Given the description of an element on the screen output the (x, y) to click on. 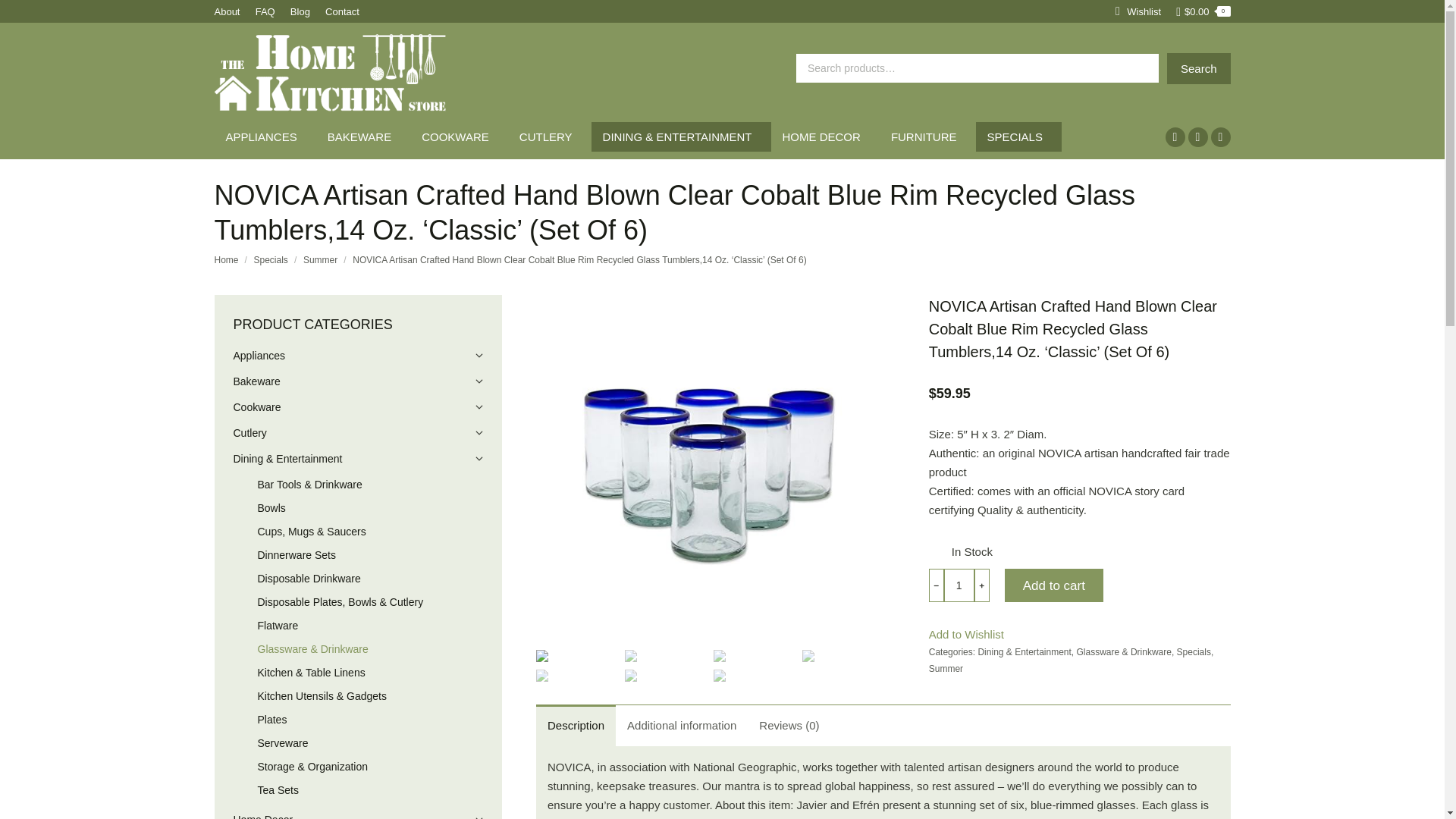
About (227, 11)
Facebook page opens in new window (1174, 137)
Home (226, 259)
Search (1198, 68)
Search (1198, 68)
FAQ (265, 11)
Pinterest page opens in new window (1219, 137)
APPLIANCES (264, 136)
X page opens in new window (1197, 137)
Contact (341, 11)
